Given the description of an element on the screen output the (x, y) to click on. 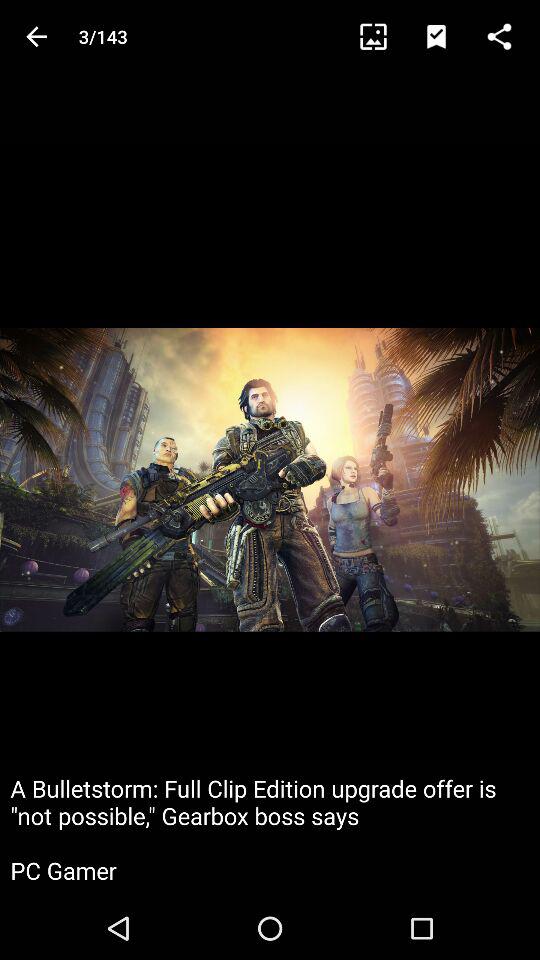
select the icon above the a bulletstorm full item (36, 36)
